Given the description of an element on the screen output the (x, y) to click on. 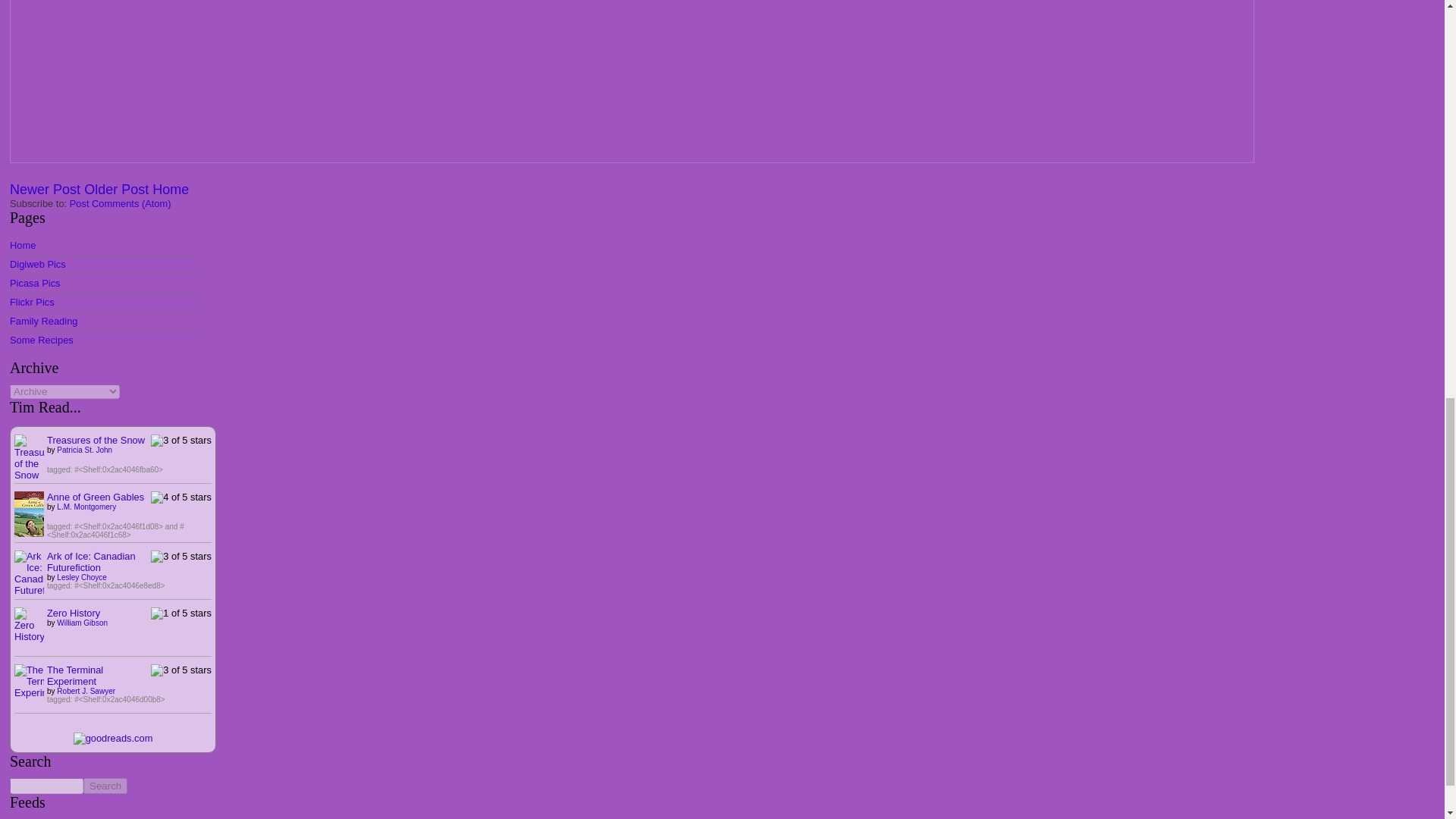
Digiweb Pics (37, 264)
Ark of Ice: Canadian Futurefiction (90, 561)
Home (22, 244)
Newer Post (45, 189)
3 of 5 stars, liked it (181, 440)
William Gibson (81, 623)
Search (105, 785)
Lesley Choyce (81, 577)
Older Post (116, 189)
Newer Post (45, 189)
Anne of Green Gables (33, 544)
Search (105, 785)
Home (170, 189)
Zero History (73, 613)
Some Recipes (42, 339)
